Given the description of an element on the screen output the (x, y) to click on. 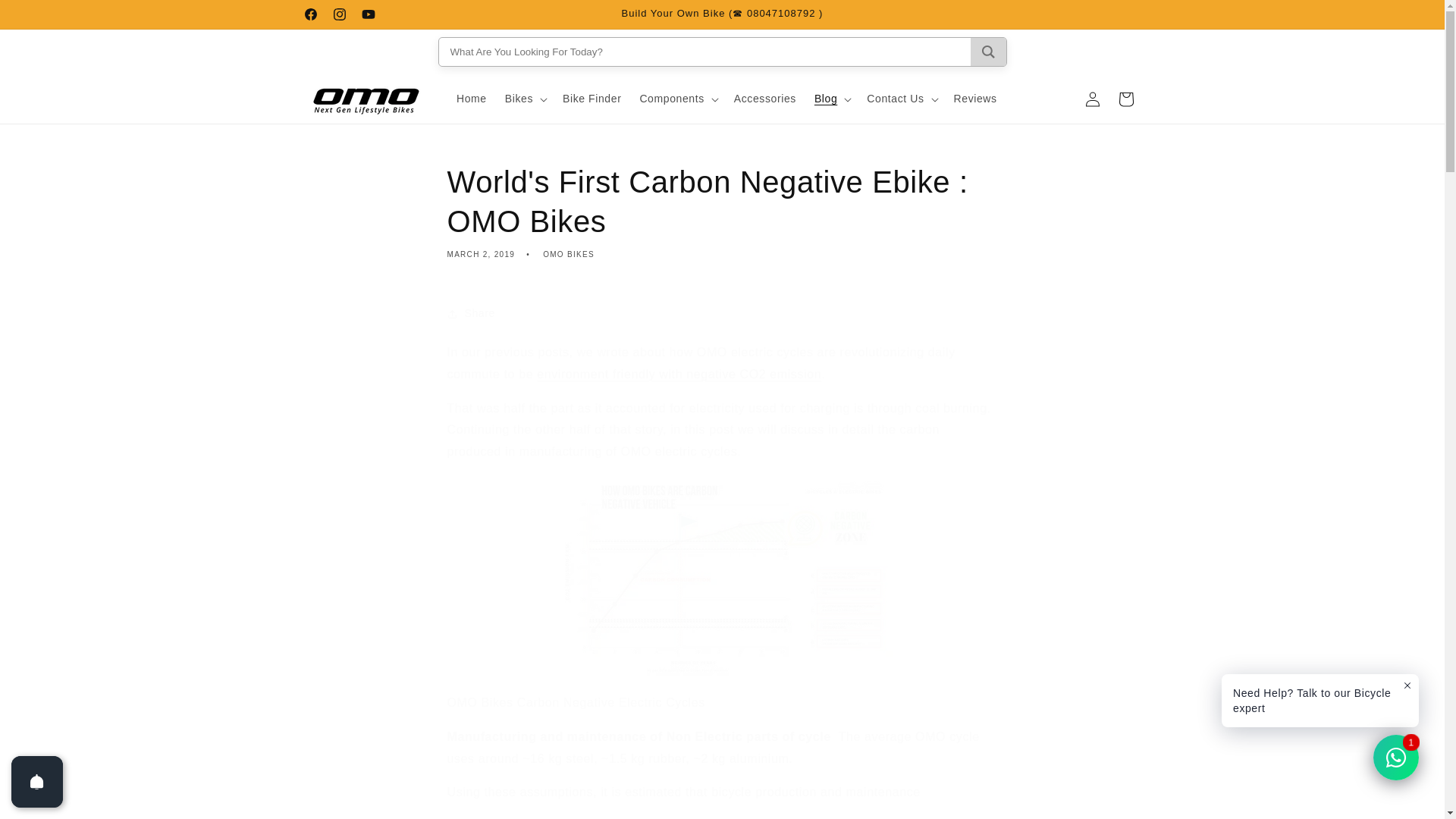
Share (721, 313)
Facebook (309, 14)
YouTube (367, 14)
Skip to content (45, 16)
Instagram (338, 14)
